Given the description of an element on the screen output the (x, y) to click on. 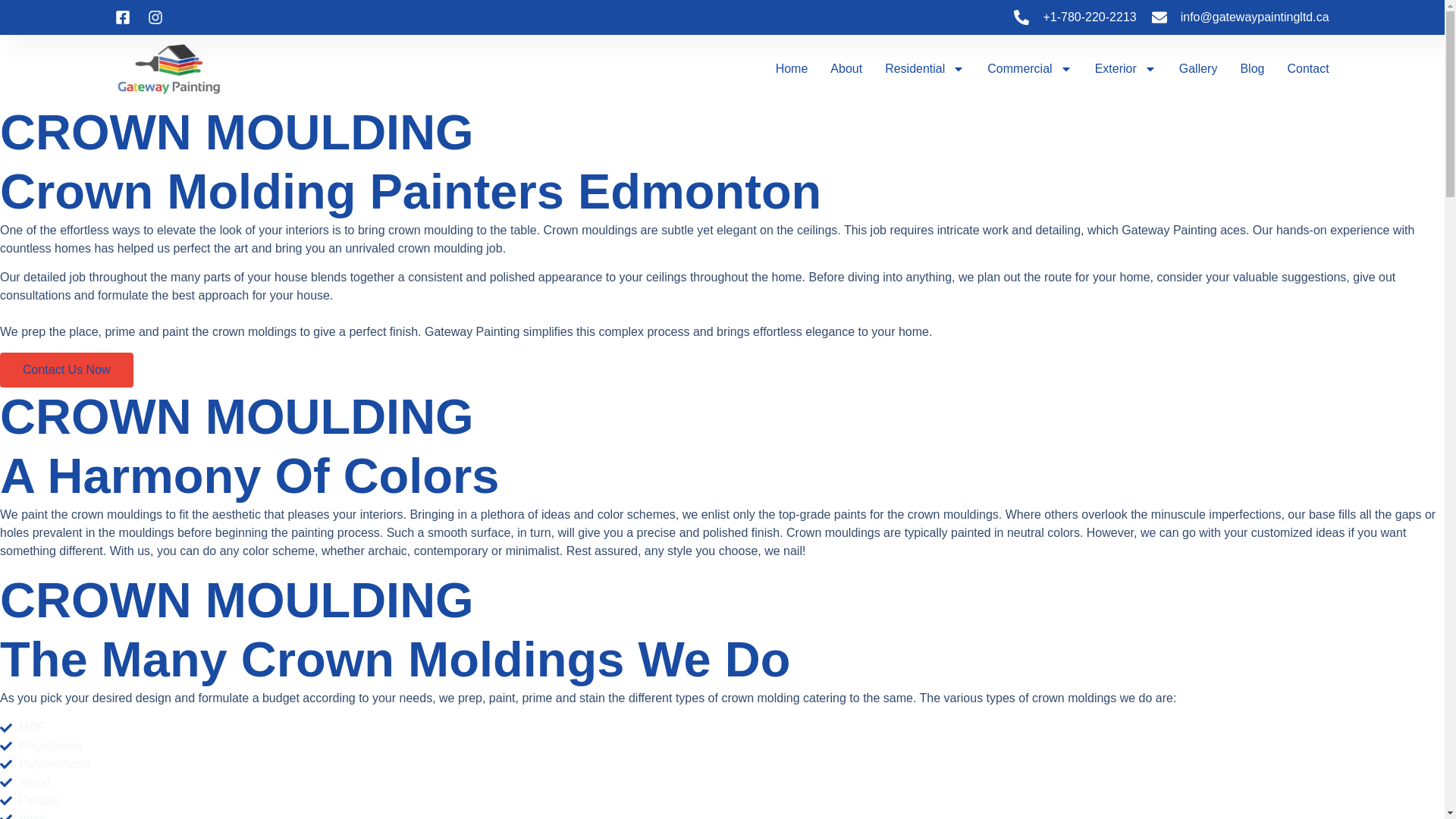
About (845, 68)
Home (792, 68)
Contact (1307, 68)
Blog (1251, 68)
Gallery (1198, 68)
Exterior (1125, 68)
Residential (924, 68)
Commercial (1029, 68)
